Given the description of an element on the screen output the (x, y) to click on. 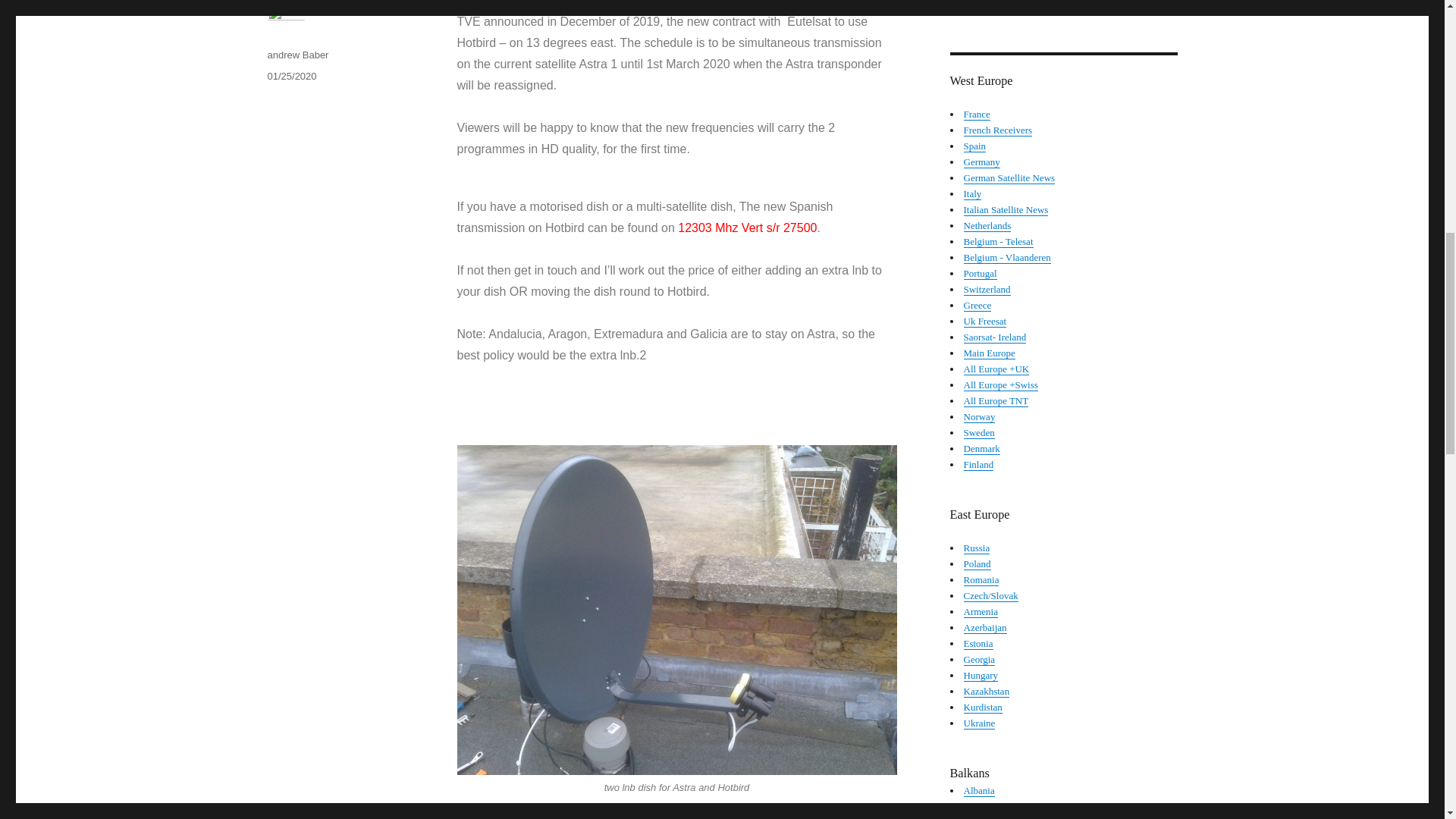
Main Europe (988, 352)
French Receivers (997, 129)
Greece (976, 305)
Italian Satellite News (1005, 209)
Saorsat- Ireland (994, 337)
andrew Baber (297, 54)
All Europe TNT (994, 400)
Spain (973, 145)
Belgium - Vlaanderen (1005, 256)
Netherlands (986, 225)
